Given the description of an element on the screen output the (x, y) to click on. 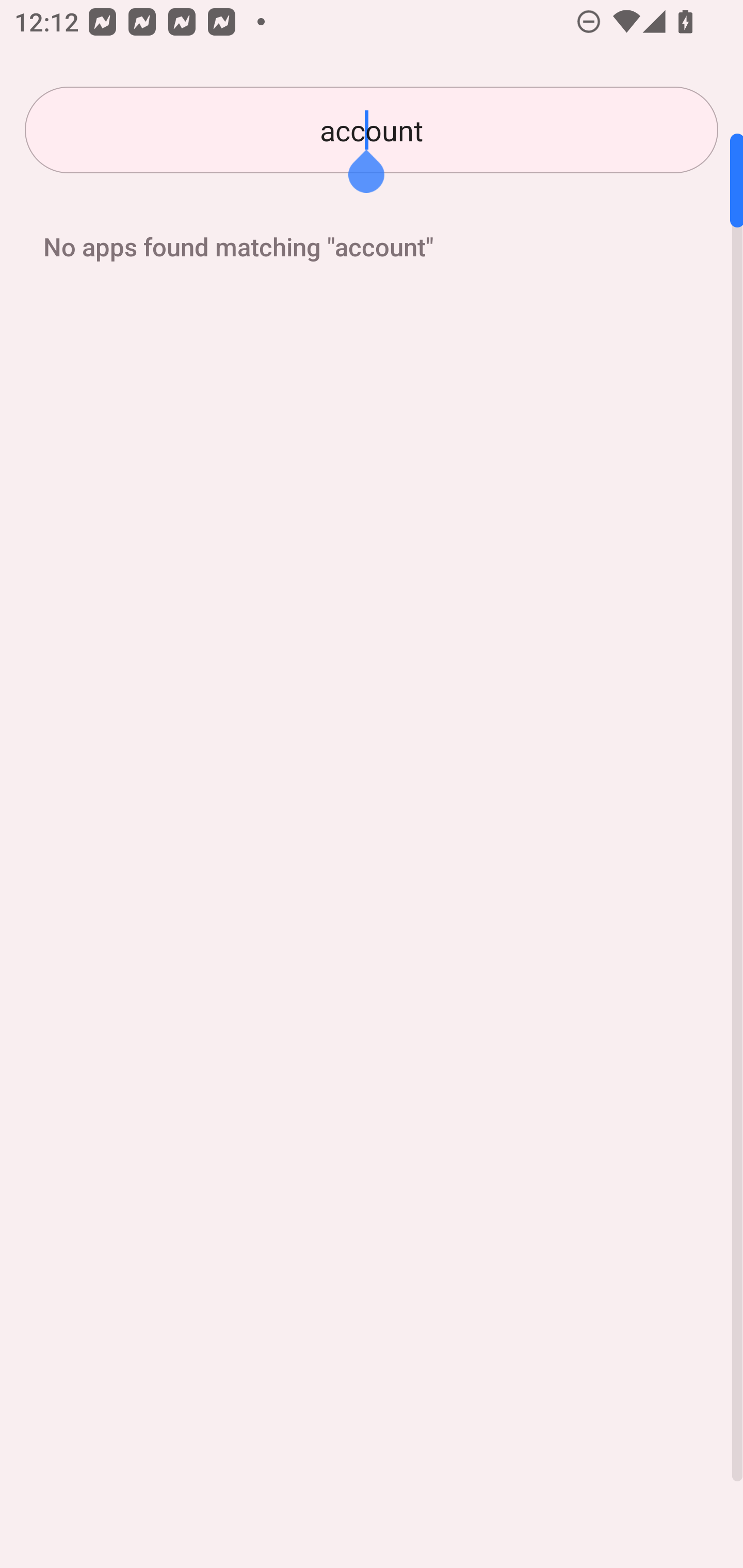
account (371, 130)
